Given the description of an element on the screen output the (x, y) to click on. 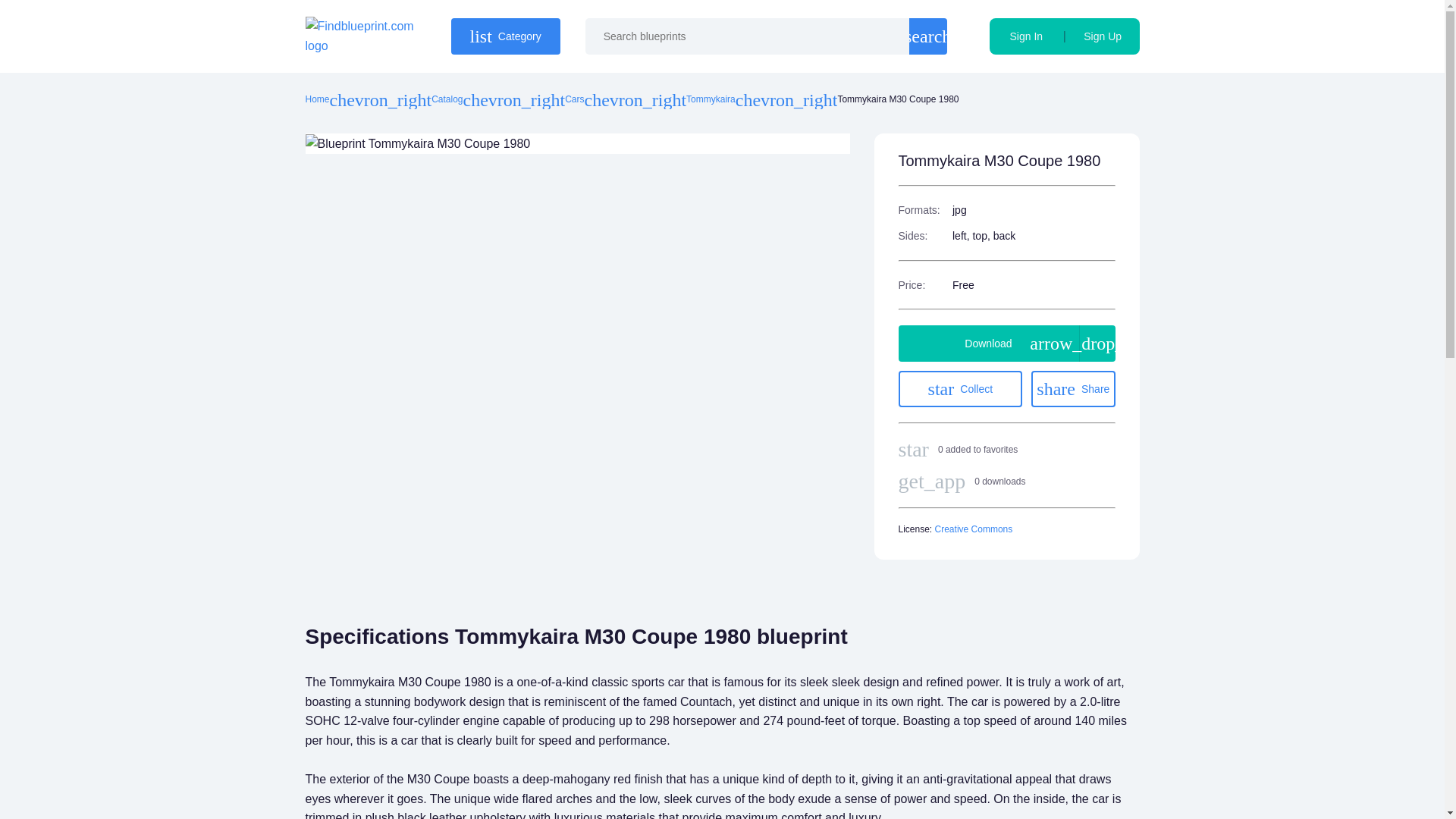
Creative Commons (973, 529)
Home (316, 99)
Blueprint Tommykaira M30 Coupe 1980 (416, 143)
Catalog (446, 99)
search (927, 36)
Tommykaira (1072, 389)
Sign In (710, 99)
Cars (1026, 36)
Sign Up (573, 99)
